Given the description of an element on the screen output the (x, y) to click on. 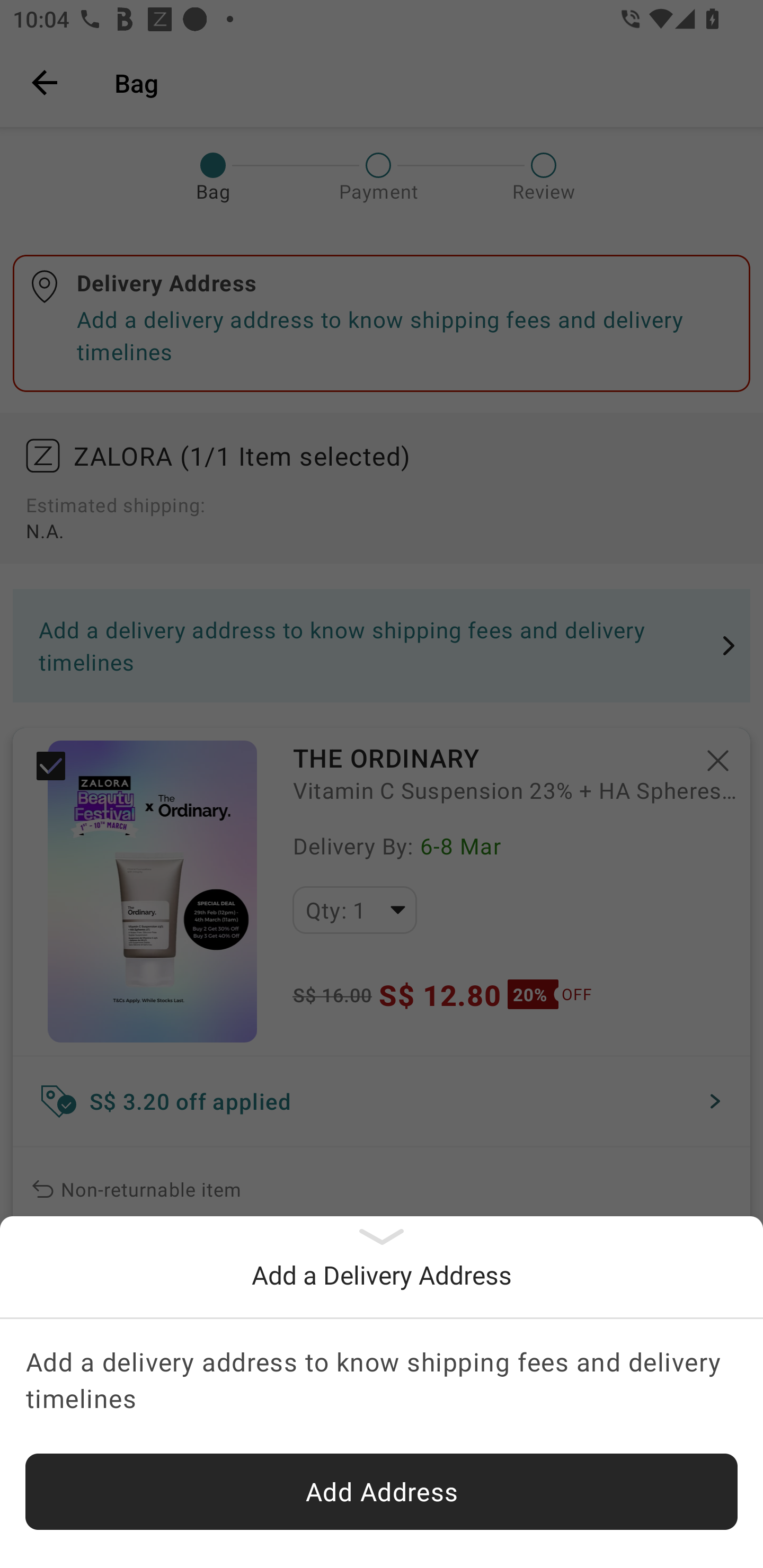
Add Address (381, 1491)
